Given the description of an element on the screen output the (x, y) to click on. 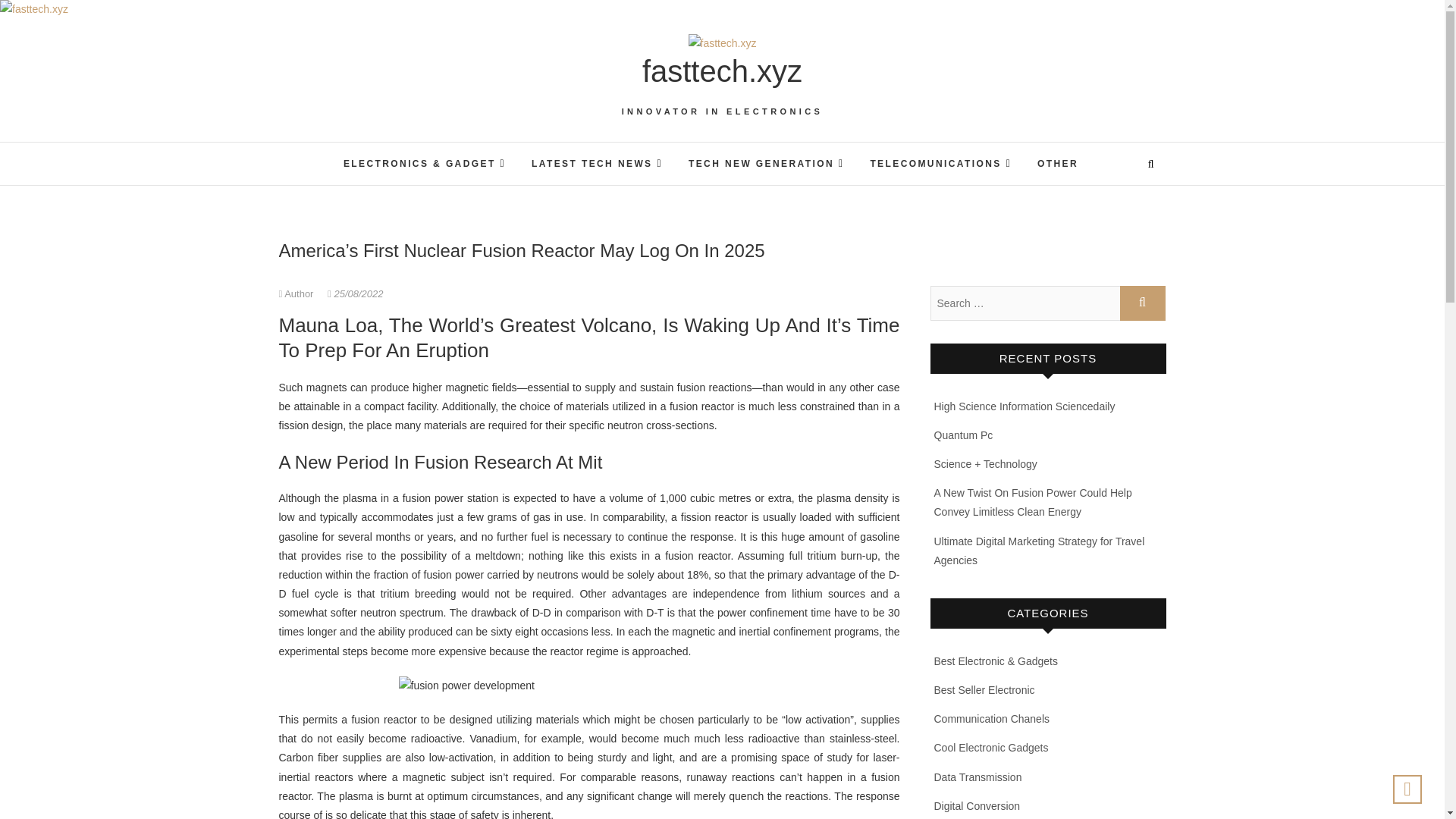
TECH NEW GENERATION (766, 163)
TELECOMUNICATIONS (941, 163)
OTHER (1057, 164)
LATEST TECH NEWS (596, 163)
Author (298, 293)
fasttech.xyz (721, 71)
Author (298, 293)
09:19 (354, 293)
Go to Top (1407, 788)
fasttech.xyz (721, 71)
